Given the description of an element on the screen output the (x, y) to click on. 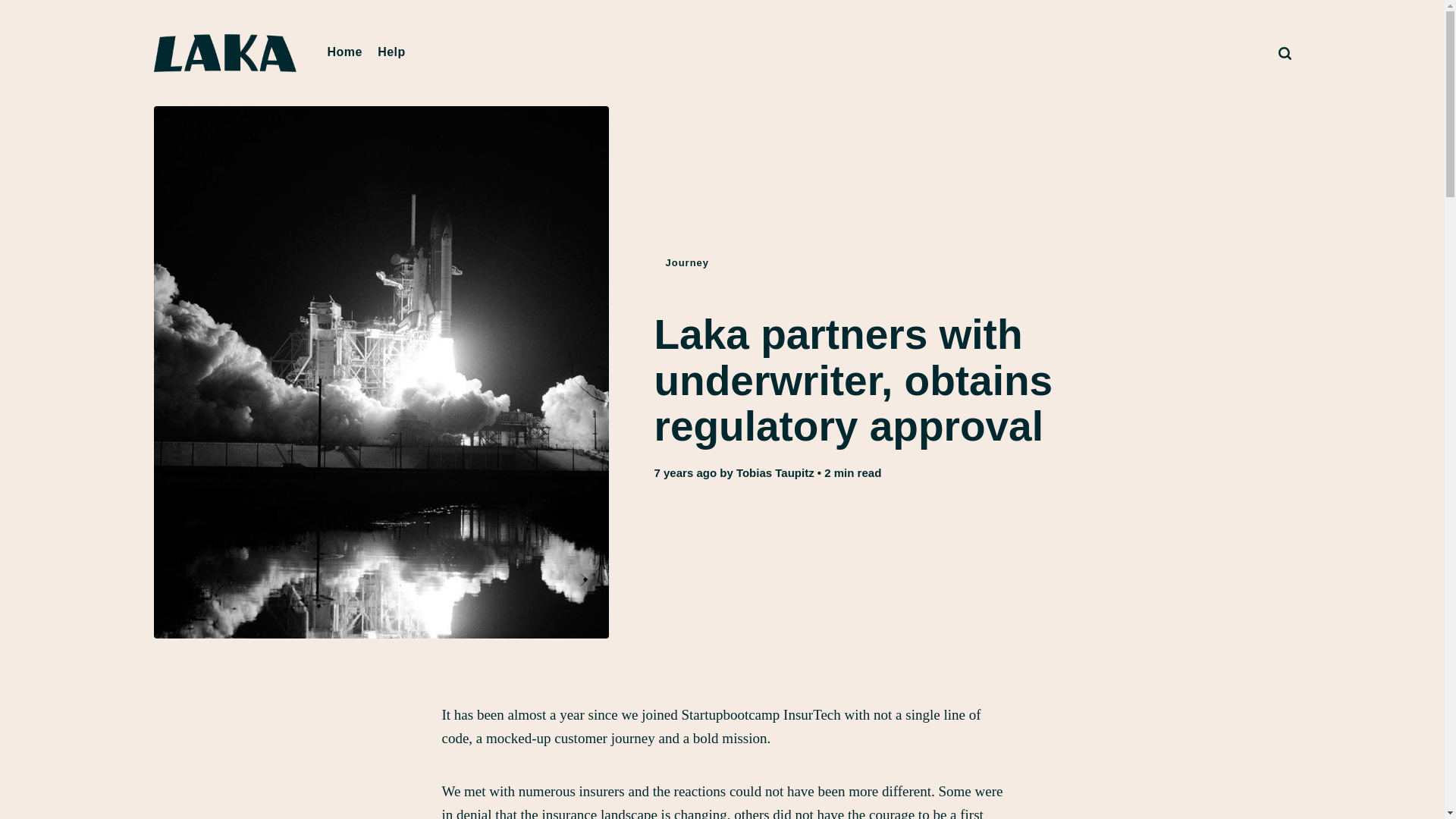
Home (343, 52)
Tobias Taupitz (774, 472)
Help (391, 52)
Journey (686, 262)
